Given the description of an element on the screen output the (x, y) to click on. 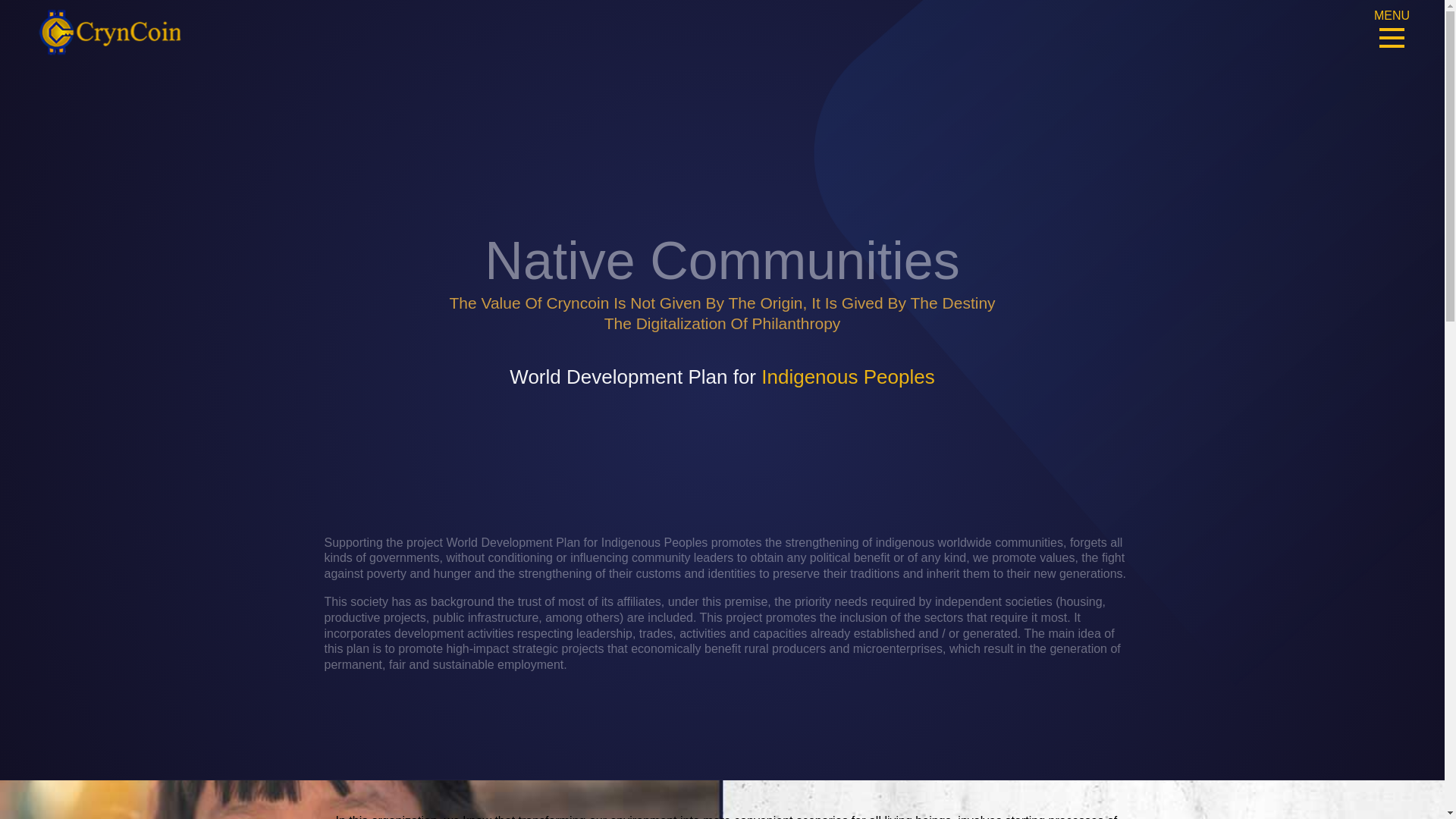
logo-gym-principal (109, 32)
